Given the description of an element on the screen output the (x, y) to click on. 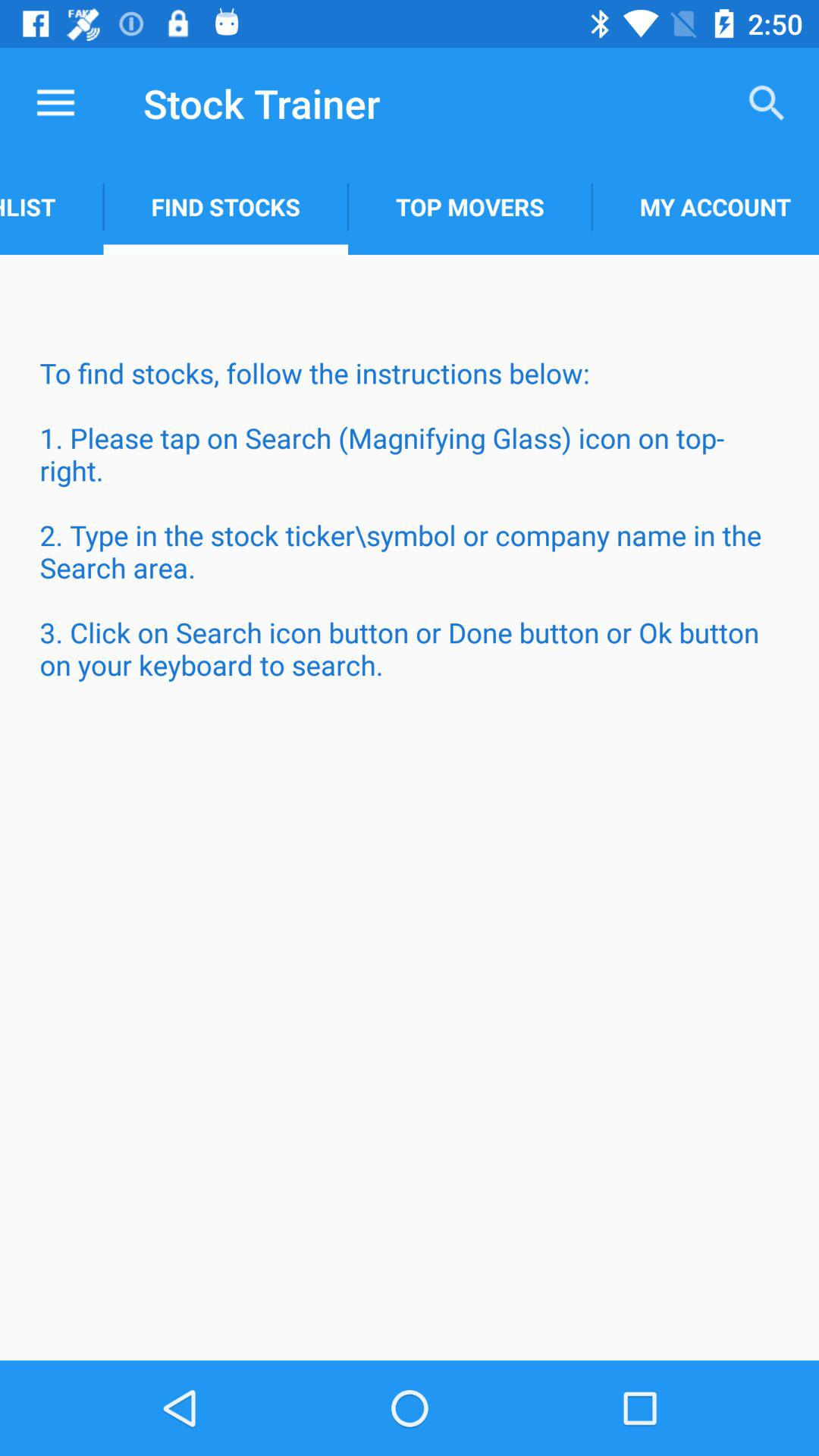
turn off app next to my account (470, 206)
